Given the description of an element on the screen output the (x, y) to click on. 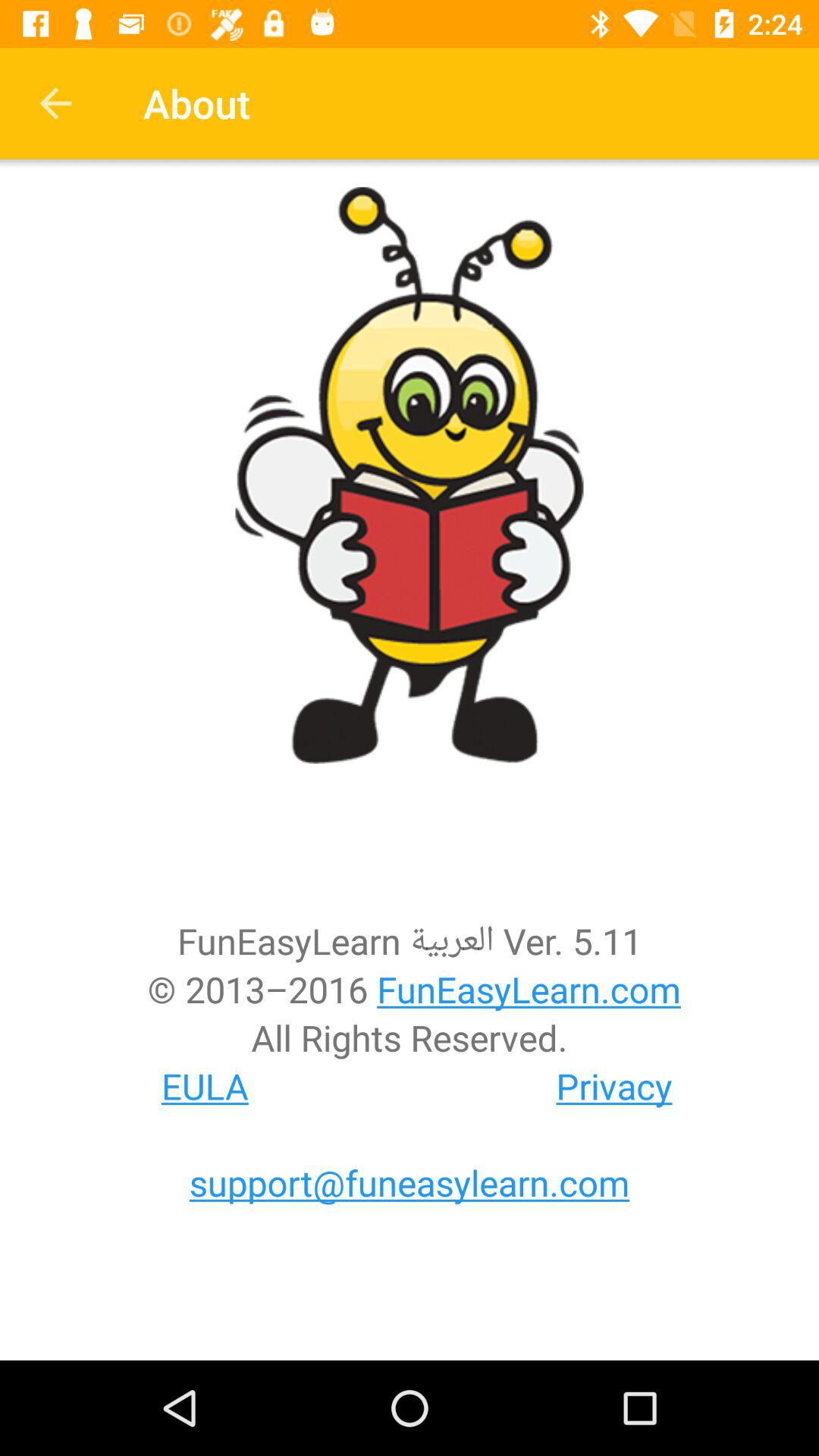
scroll to the eula (204, 1085)
